Given the description of an element on the screen output the (x, y) to click on. 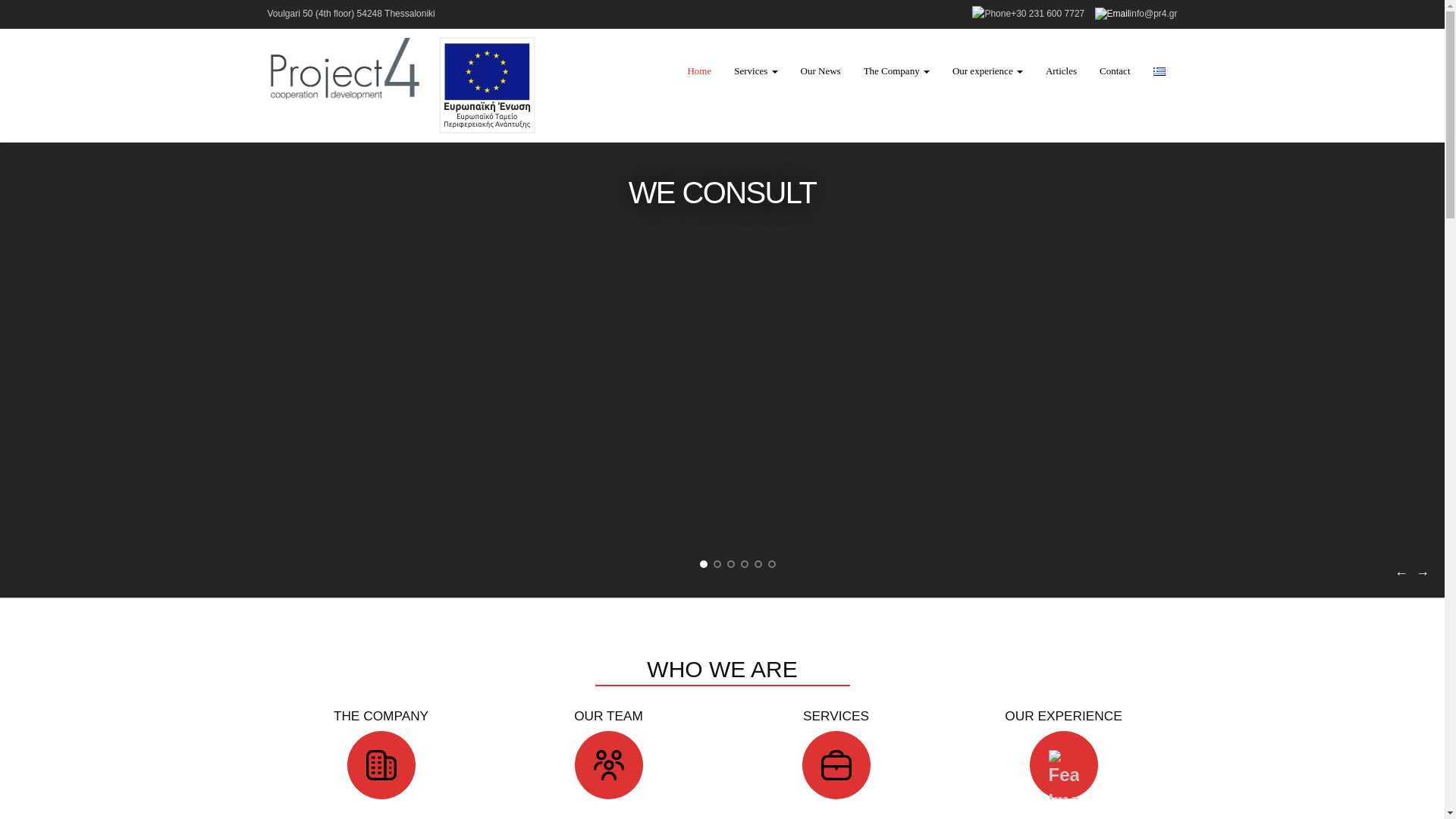
Our News (820, 71)
Our experience (986, 71)
Articles (1060, 71)
Services (755, 71)
Home (698, 71)
Home (698, 71)
Our News (820, 71)
The Company (895, 71)
Articles (1060, 71)
The Company (895, 71)
